Given the description of an element on the screen output the (x, y) to click on. 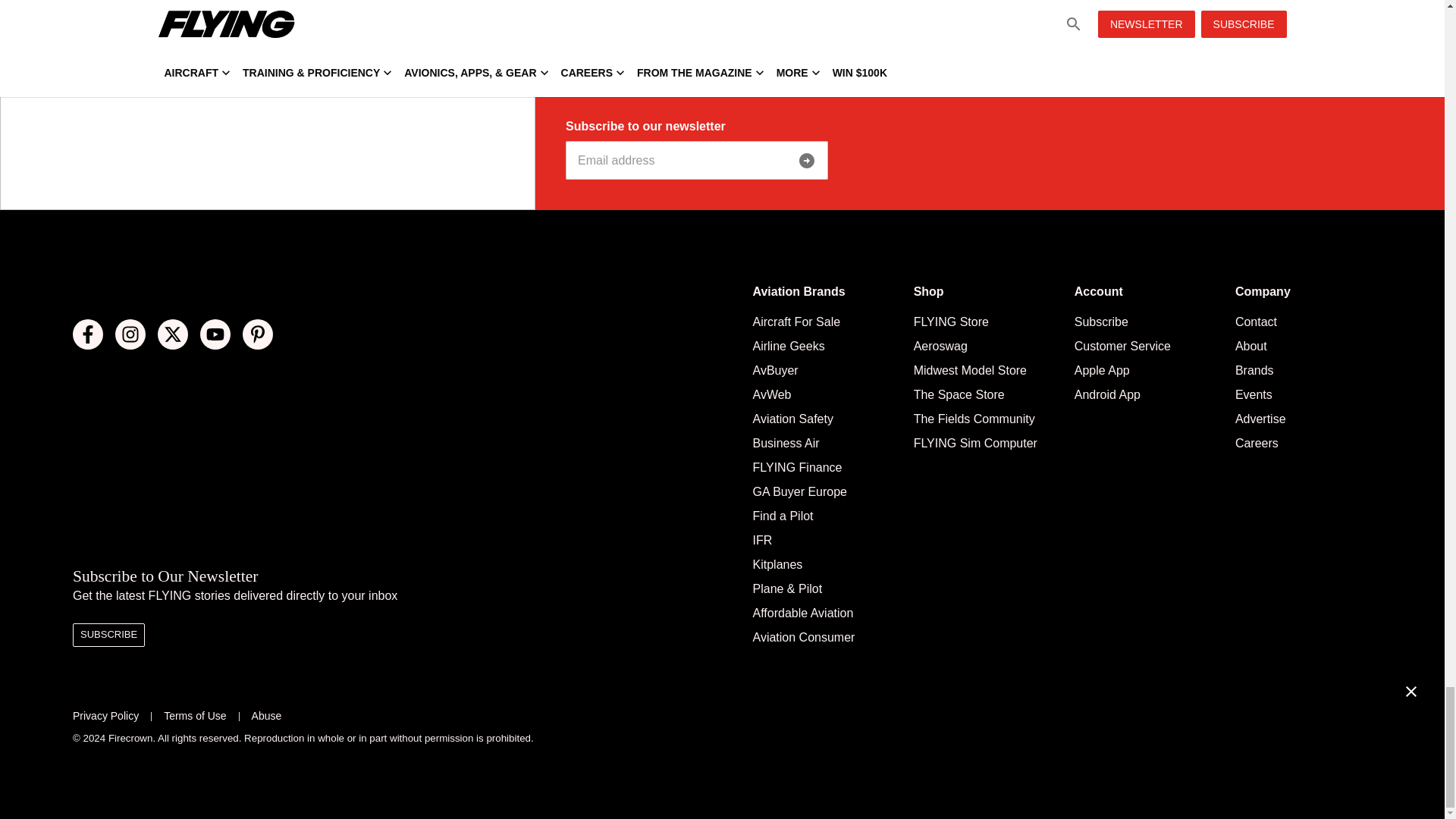
Submit (807, 160)
Pinterest (258, 334)
Facebook (87, 334)
Youtube (215, 334)
Instagram (130, 334)
Twitter (172, 334)
